Given the description of an element on the screen output the (x, y) to click on. 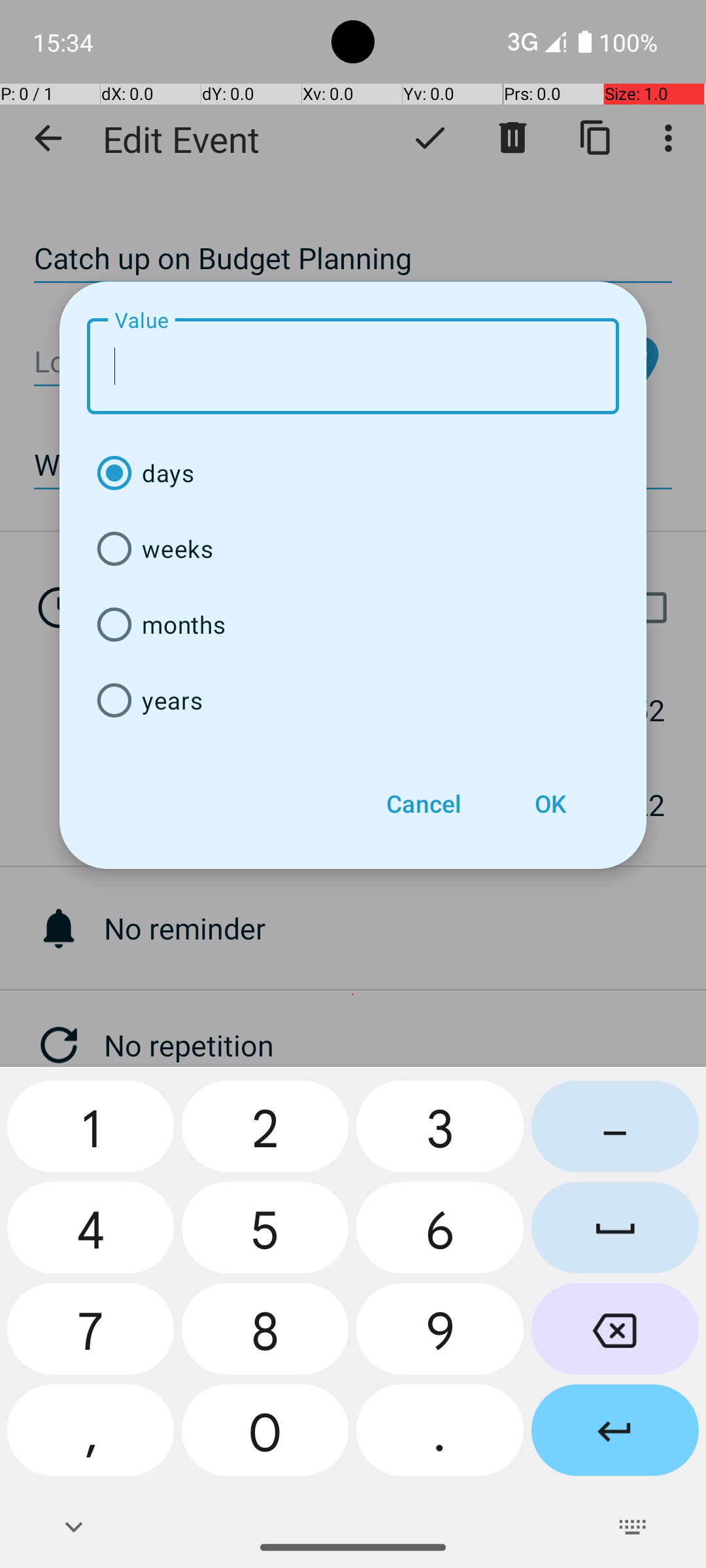
Value Element type: android.widget.EditText (352, 366)
days Element type: android.widget.RadioButton (352, 472)
weeks Element type: android.widget.RadioButton (352, 548)
months Element type: android.widget.RadioButton (352, 624)
years Element type: android.widget.RadioButton (352, 700)
